Given the description of an element on the screen output the (x, y) to click on. 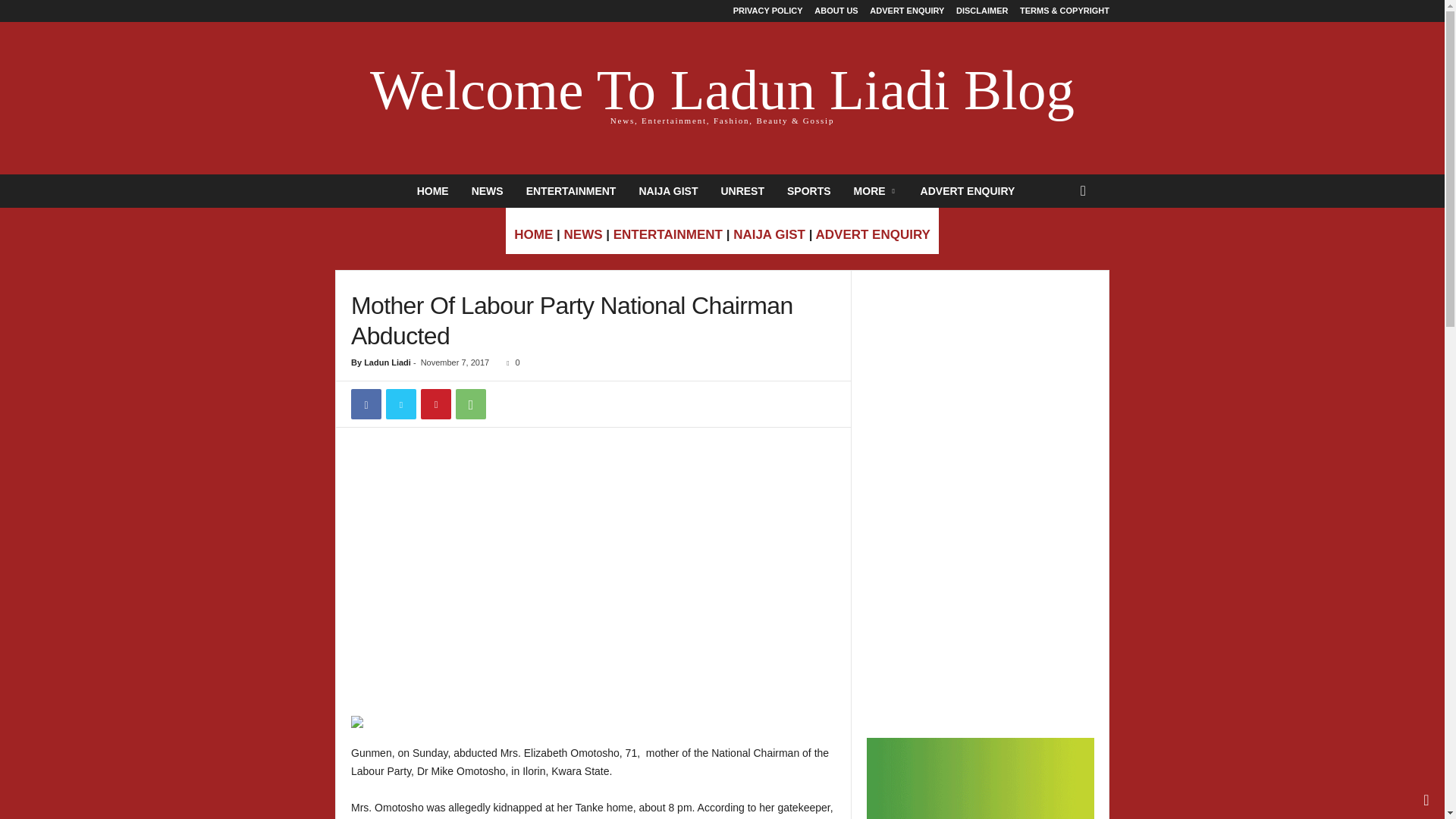
ABOUT US (835, 10)
HOME (433, 191)
NAIJA GIST (668, 191)
ADVERT ENQUIRY (906, 10)
Twitter (400, 404)
WhatsApp (470, 404)
NAIJA GIST (769, 234)
Advertisement (593, 481)
NEWS (583, 234)
DISCLAIMER (981, 10)
Facebook (365, 404)
HOME (533, 234)
NEWS (487, 191)
ENTERTAINMENT (667, 234)
UNREST (742, 191)
